Given the description of an element on the screen output the (x, y) to click on. 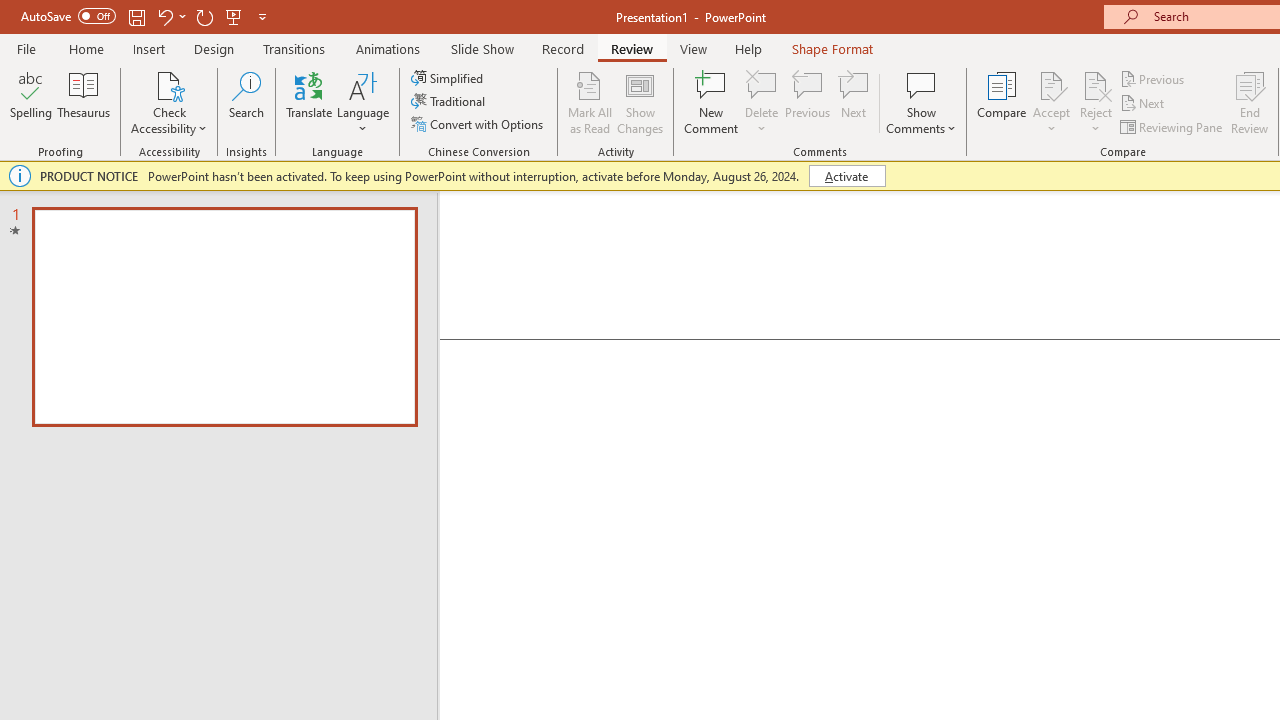
Traditional (449, 101)
Reject (1096, 102)
Activate (846, 175)
Compare (1002, 102)
